Given the description of an element on the screen output the (x, y) to click on. 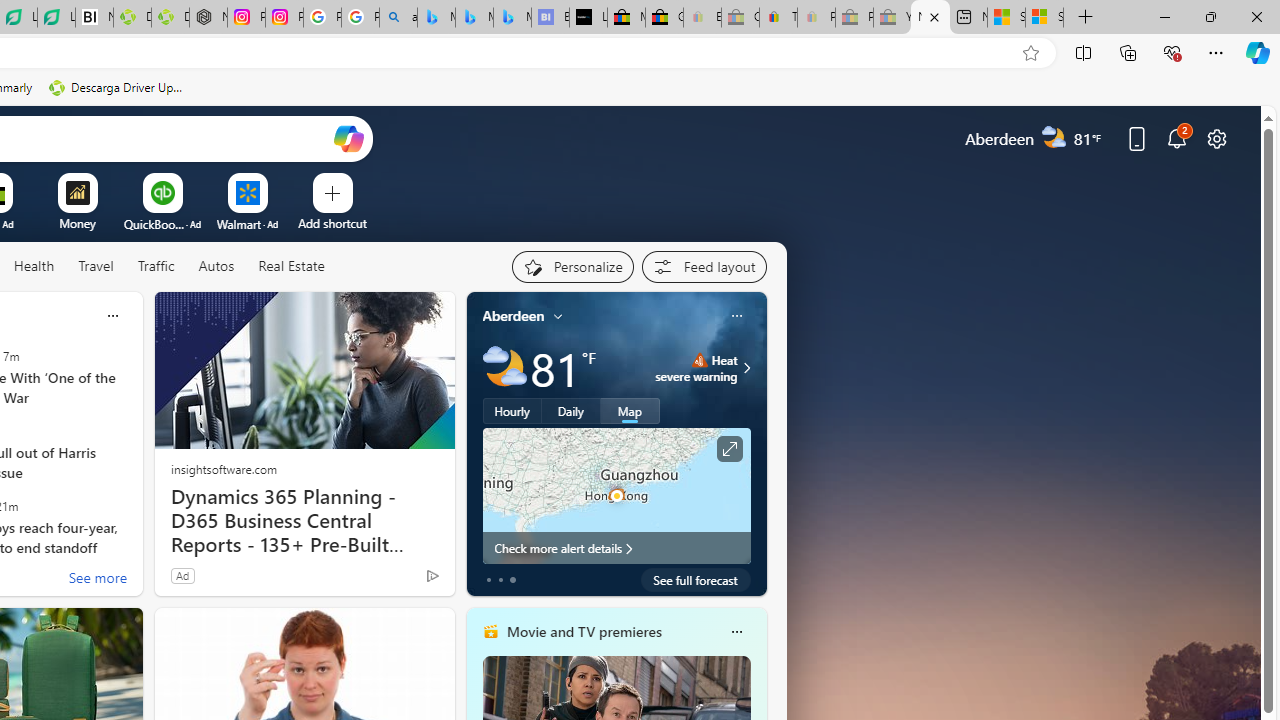
Partly cloudy (504, 368)
Threats and offensive language policy | eBay (778, 17)
Partly cloudy (504, 368)
Larger map  (616, 495)
Map (630, 411)
insightsoftware.com (223, 468)
Microsoft Bing Travel - Shangri-La Hotel Bangkok (512, 17)
Press Room - eBay Inc. - Sleeping (853, 17)
